Given the description of an element on the screen output the (x, y) to click on. 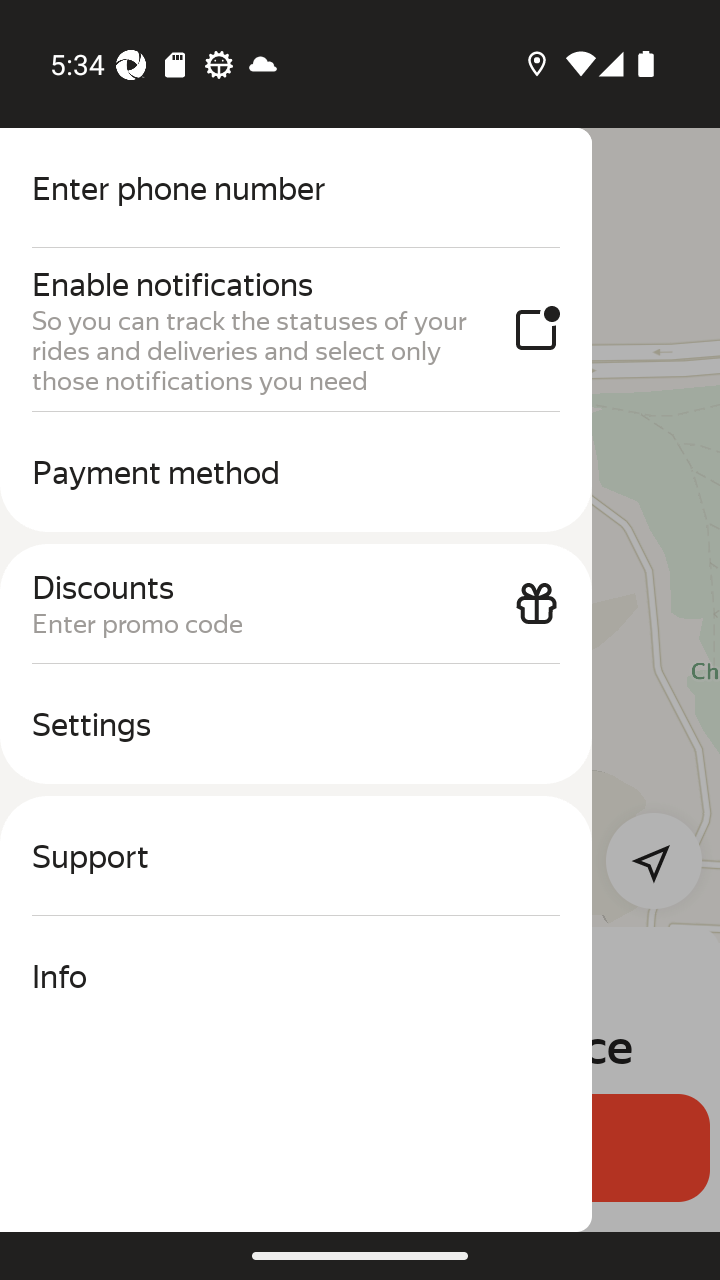
Enter phone number (295, 188)
Payment method (295, 472)
Settings (295, 723)
Support (295, 856)
Info (295, 975)
